Given the description of an element on the screen output the (x, y) to click on. 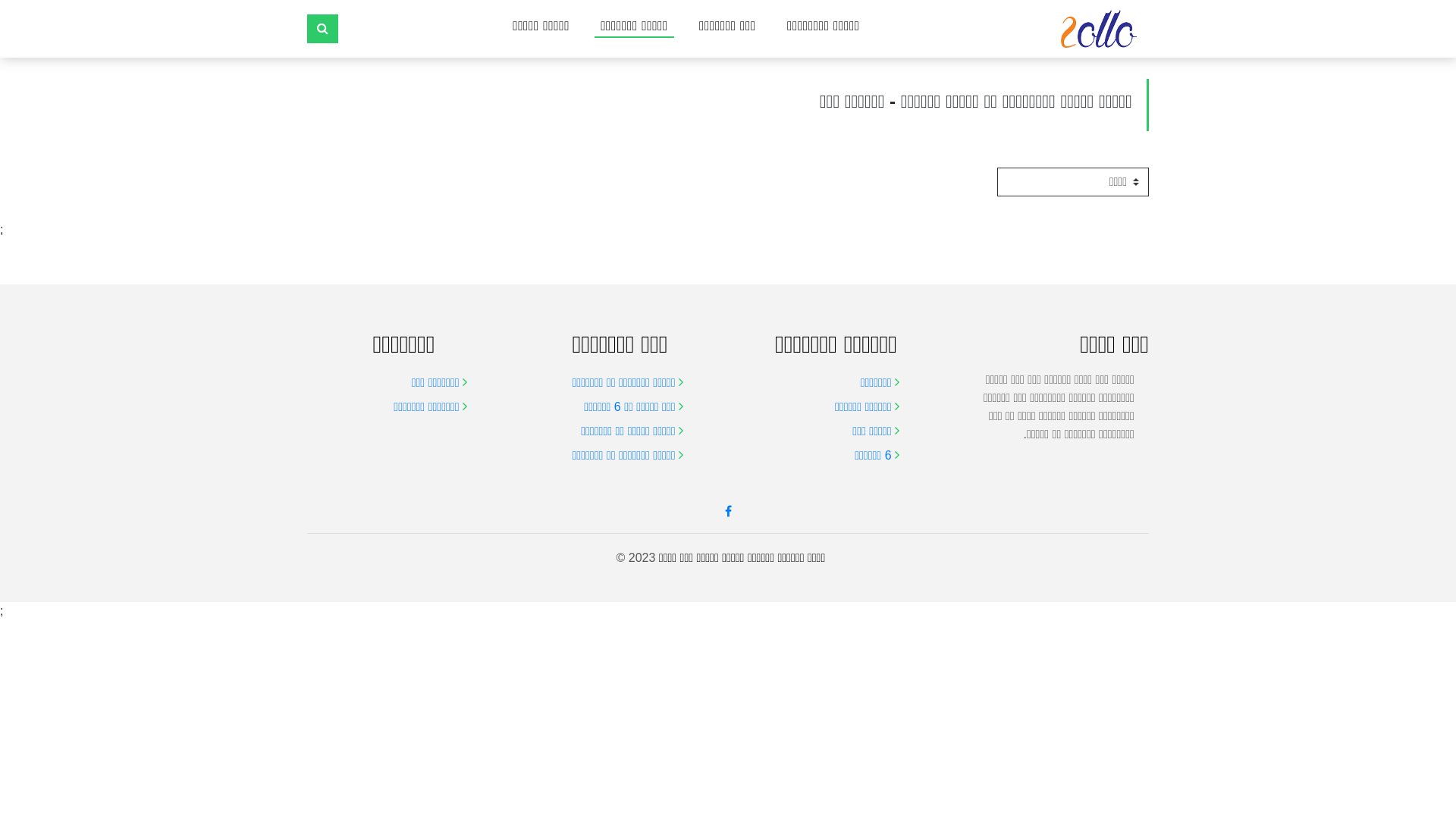
Facebook 2ollo Element type: hover (727, 511)
shof3qar pro Element type: hover (1098, 28)
Shof3qar logo Element type: hover (1098, 28)
